Given the description of an element on the screen output the (x, y) to click on. 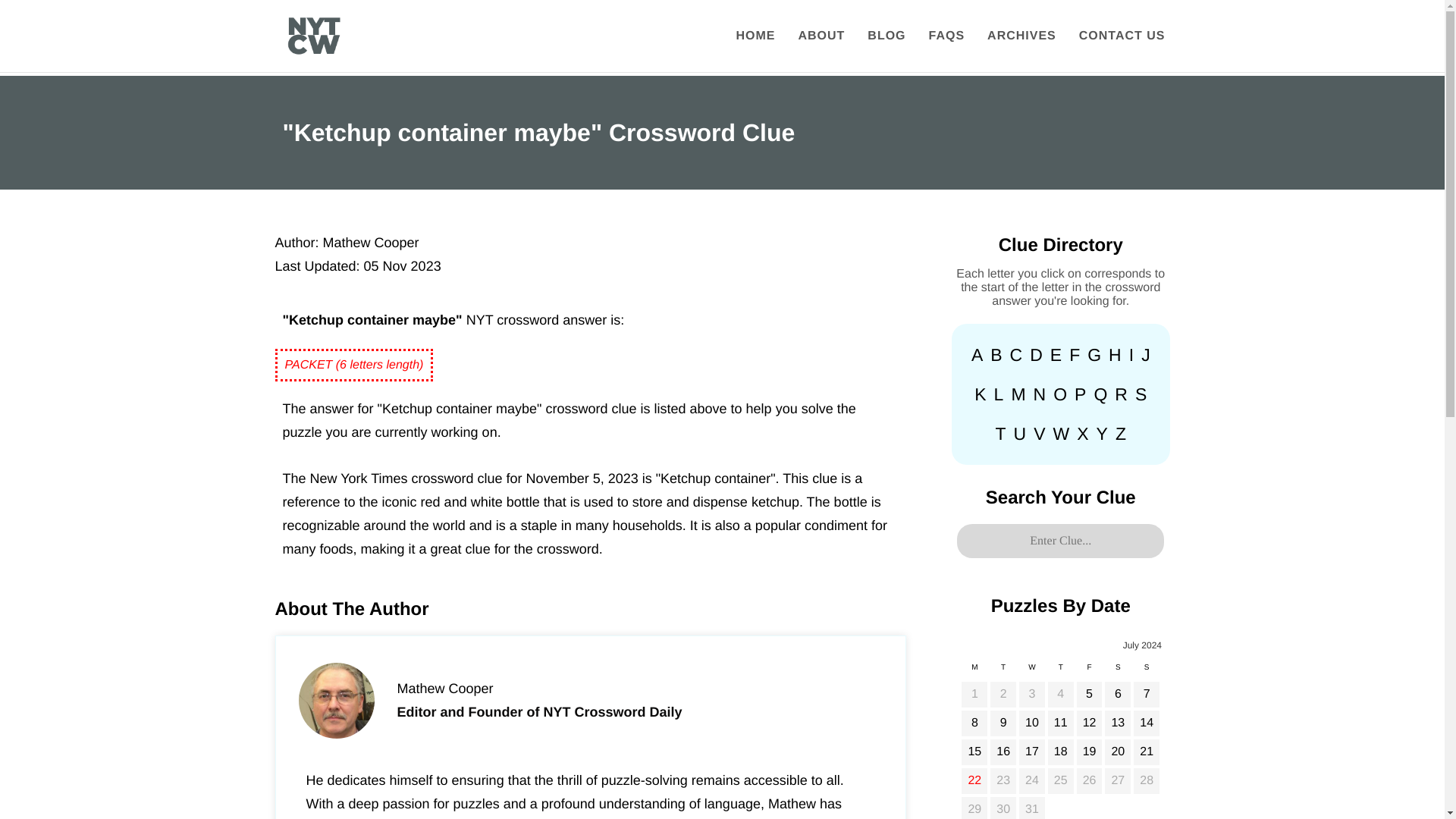
HOME (754, 35)
Thursday (1060, 671)
Saturday (1117, 671)
Tuesday (1003, 671)
Monday (974, 671)
BLOG (886, 35)
CONTACT US (1122, 35)
Friday (1089, 671)
Wednesday (1031, 671)
Sunday (1146, 671)
FAQS (946, 35)
ABOUT (820, 35)
ARCHIVES (1022, 35)
